Given the description of an element on the screen output the (x, y) to click on. 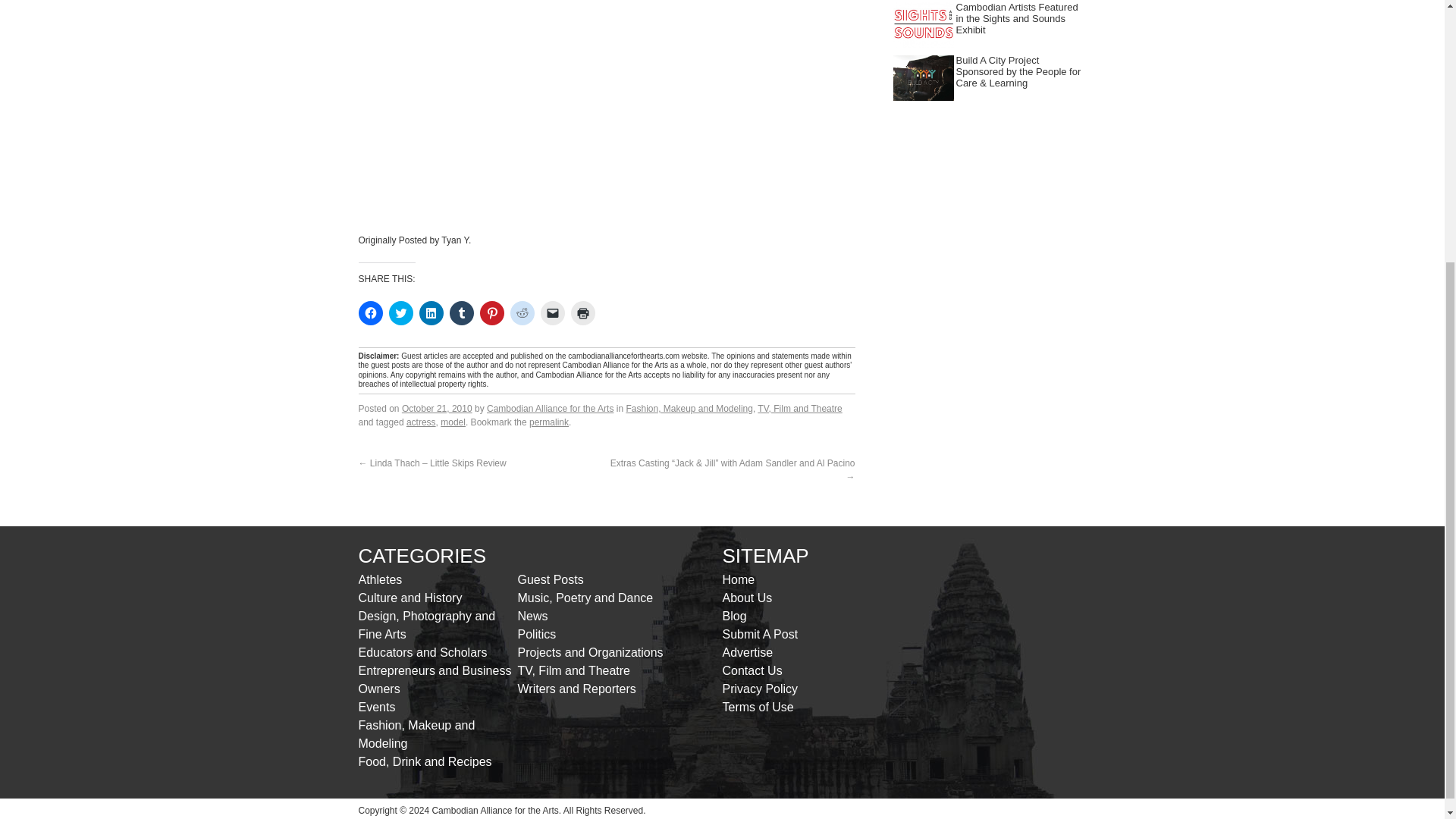
Fashion, Makeup and Modeling (689, 408)
Politics (536, 634)
Click to share on Twitter (400, 313)
Cambodian Alliance for the Arts (549, 408)
Cambodian Artists Featured in the Sights and Sounds Exhibit (1016, 18)
News (531, 615)
Click to share on LinkedIn (430, 313)
Design, Photography and Fine Arts (426, 624)
actress (420, 421)
TV, Film and Theatre (799, 408)
Events (376, 707)
Food, Drink and Recipes (425, 761)
Culture and History (409, 597)
Click to share on Reddit (521, 313)
Click to share on Tumblr (460, 313)
